Given the description of an element on the screen output the (x, y) to click on. 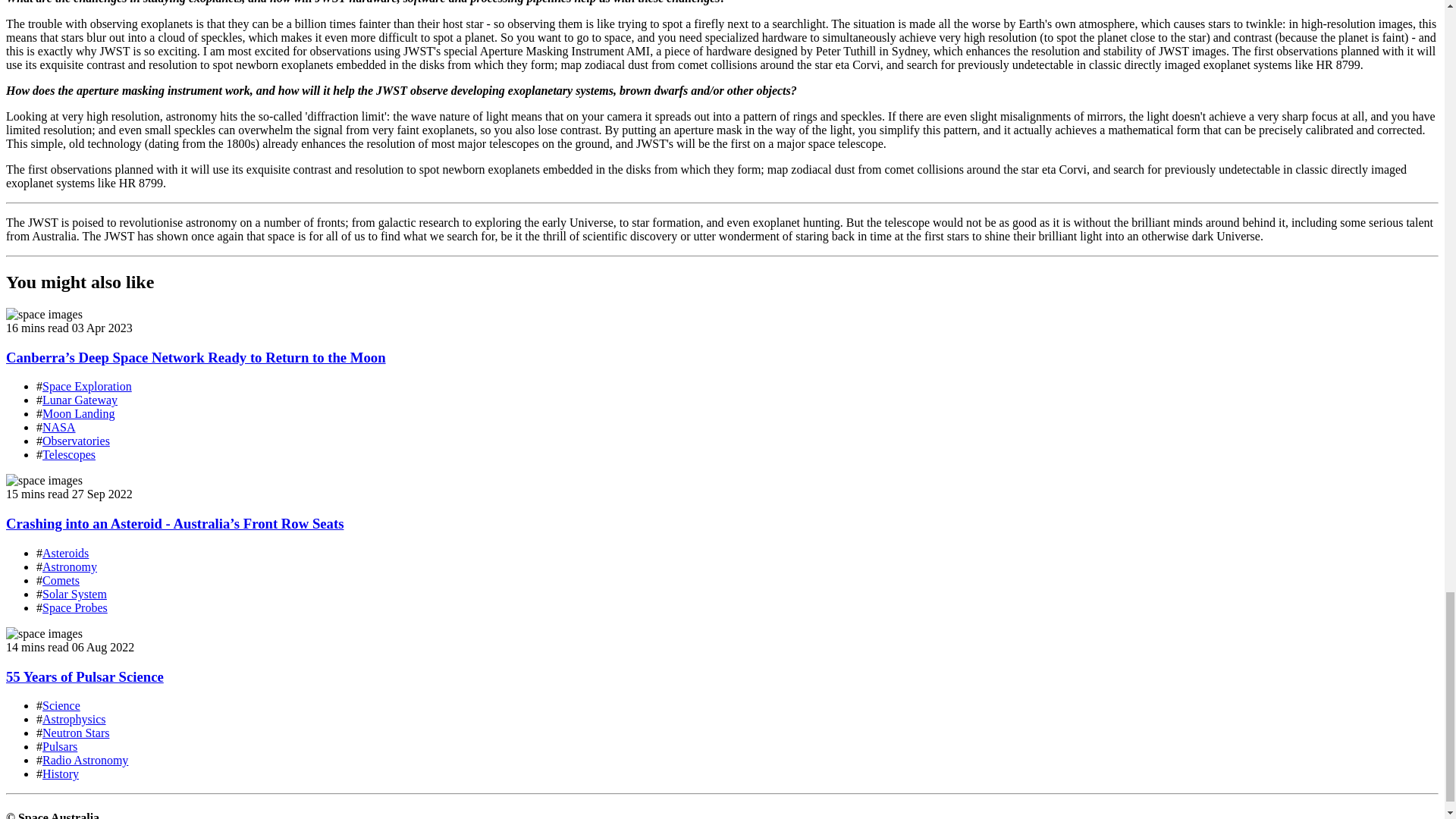
Moon Landing (78, 413)
Lunar Gateway (79, 399)
Space Exploration (87, 386)
